Given the description of an element on the screen output the (x, y) to click on. 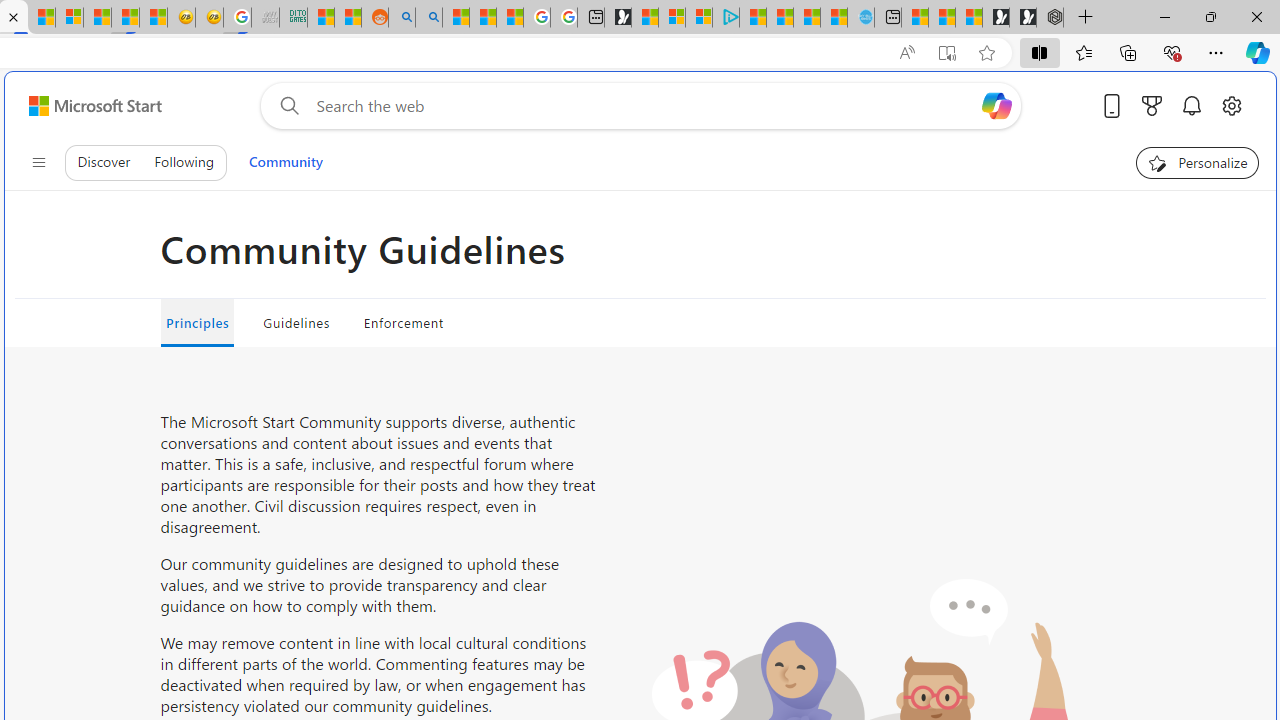
Enter Immersive Reader (F9) (946, 53)
Web search (285, 105)
